Given the description of an element on the screen output the (x, y) to click on. 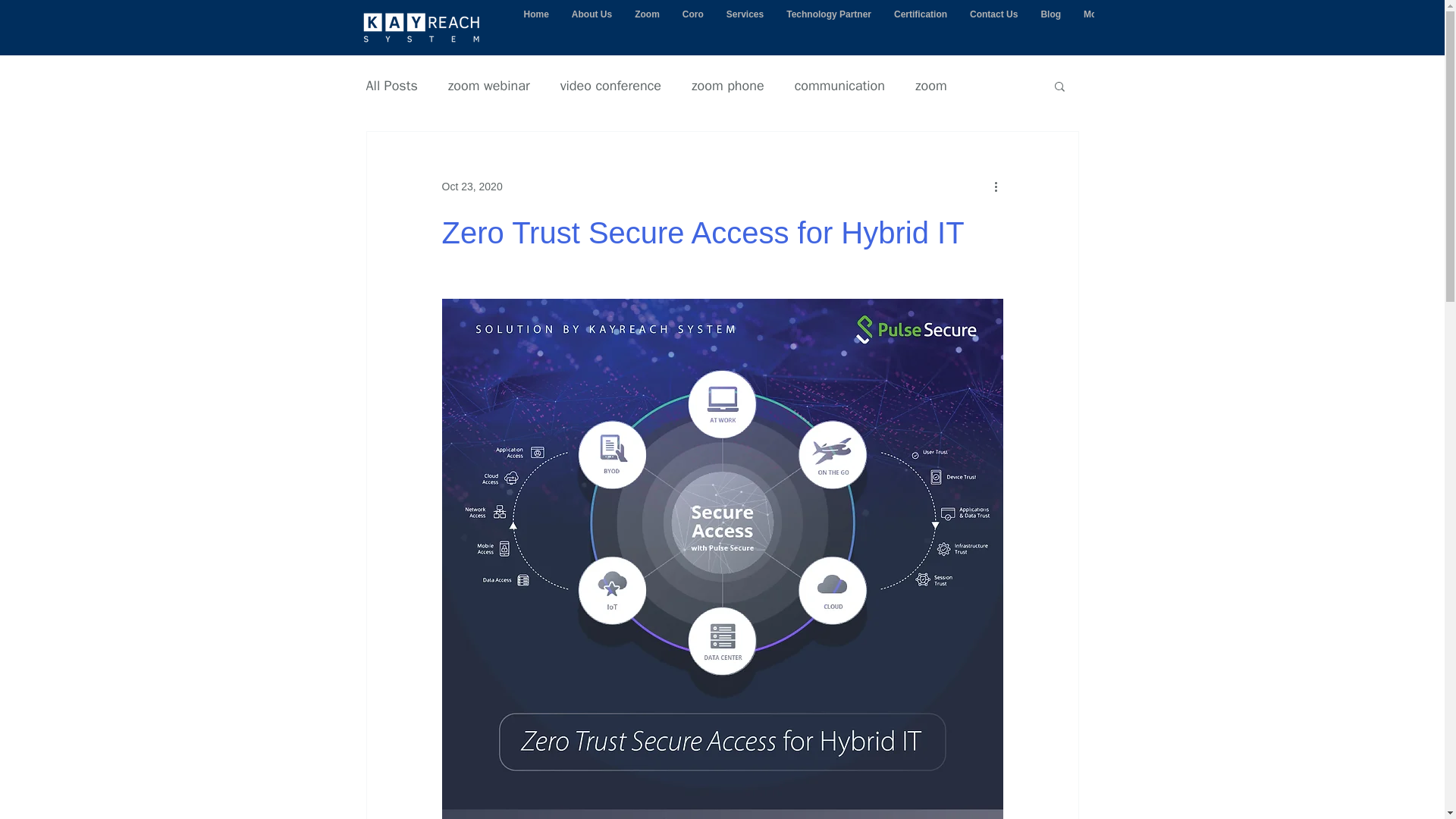
communication (839, 85)
Contact Us (993, 26)
zoom phone (727, 85)
Blog (1050, 26)
Certification (920, 26)
Zoom (647, 26)
Coro (692, 26)
Technology Partner (828, 26)
Home (536, 26)
Oct 23, 2020 (471, 186)
